Given the description of an element on the screen output the (x, y) to click on. 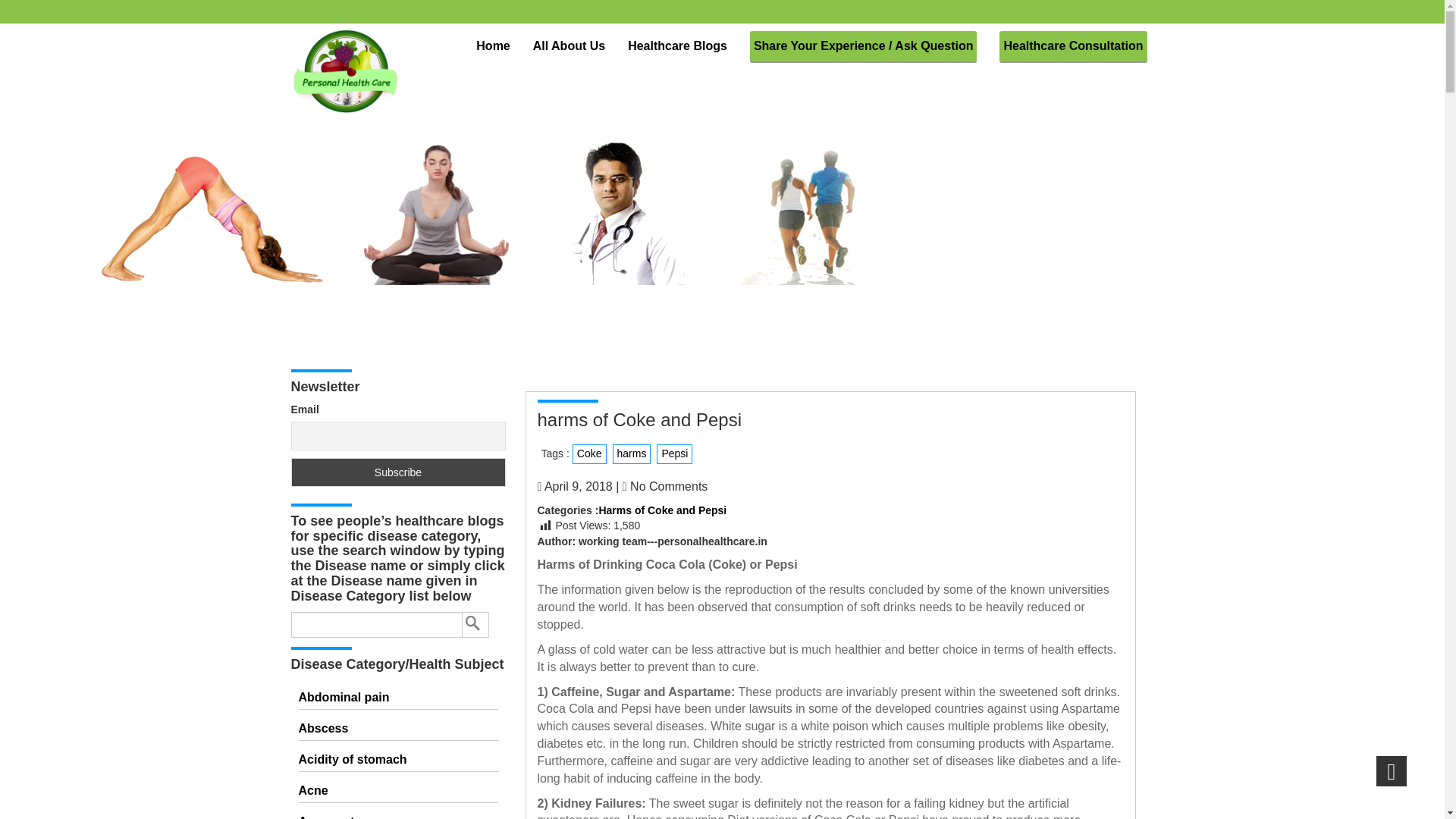
Healthcare Blogs (676, 46)
All About Us (568, 46)
Healthcare Consultation (1072, 46)
Abscess (397, 728)
Acupuncture (397, 816)
Acidity of stomach (397, 760)
Acne (397, 791)
Search (476, 624)
Subscribe (398, 471)
Home (492, 46)
